Given the description of an element on the screen output the (x, y) to click on. 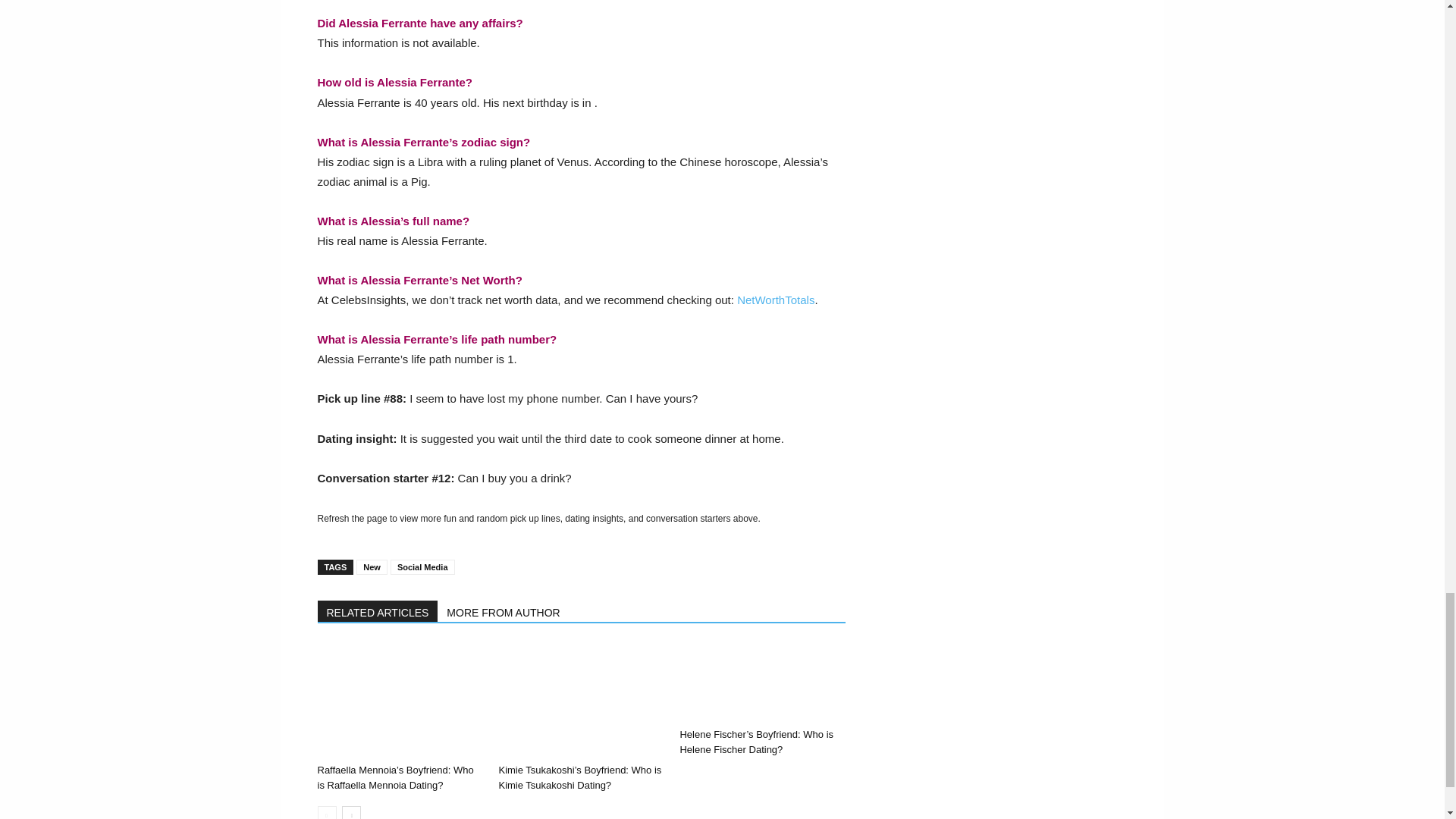
Alessia Ferrante net worth status (774, 299)
RELATED ARTICLES (377, 610)
New (371, 566)
Social Media (422, 566)
MORE FROM AUTHOR (503, 610)
NetWorthTotals (774, 299)
